Given the description of an element on the screen output the (x, y) to click on. 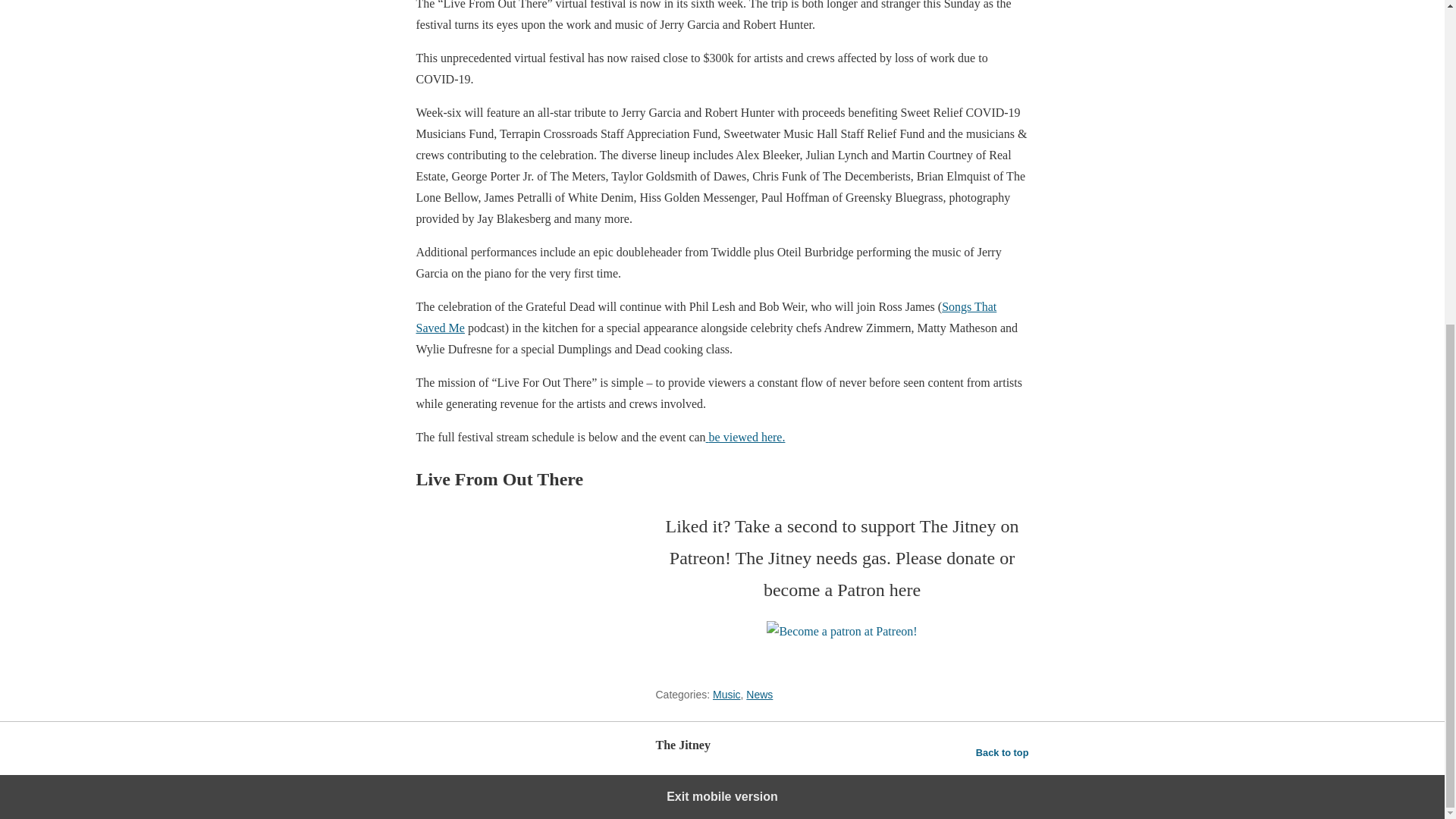
News (759, 694)
be viewed here. (746, 436)
Back to top (1002, 752)
Music (727, 694)
Songs That Saved Me (704, 317)
